Given the description of an element on the screen output the (x, y) to click on. 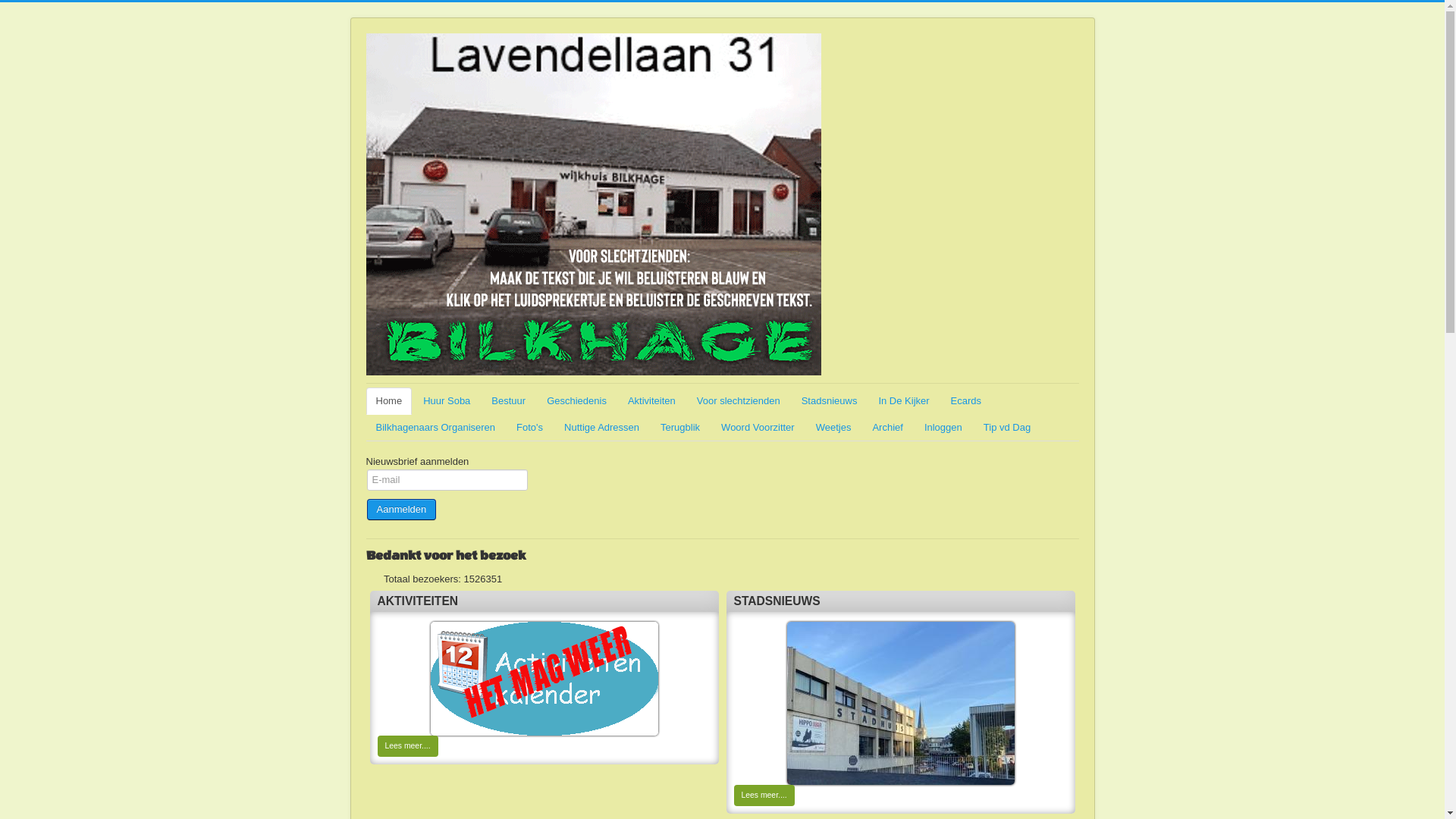
Weetjes Element type: text (833, 427)
Tip vd Dag Element type: text (1006, 427)
Aanmelden Element type: text (401, 509)
Lees meer.... Element type: text (764, 795)
Aktiviteiten Element type: hover (544, 678)
Voor slechtzienden Element type: text (738, 400)
In De Kijker Element type: text (903, 400)
Ecards Element type: text (966, 400)
Nuttige Adressen Element type: text (601, 427)
Stadsnieuws Element type: hover (900, 702)
Home Element type: text (388, 400)
Terugblik Element type: text (679, 427)
Bilkhagenaars Organiseren Element type: text (435, 427)
Huur Soba Element type: text (446, 400)
Woord Voorzitter Element type: text (757, 427)
Stadsnieuws Element type: text (829, 400)
Inloggen Element type: text (943, 427)
Aktiviteiten Element type: text (651, 400)
Bestuur Element type: text (508, 400)
Lees meer.... Element type: text (407, 745)
Geschiedenis Element type: text (576, 400)
Archief Element type: text (887, 427)
Foto's Element type: text (529, 427)
